Given the description of an element on the screen output the (x, y) to click on. 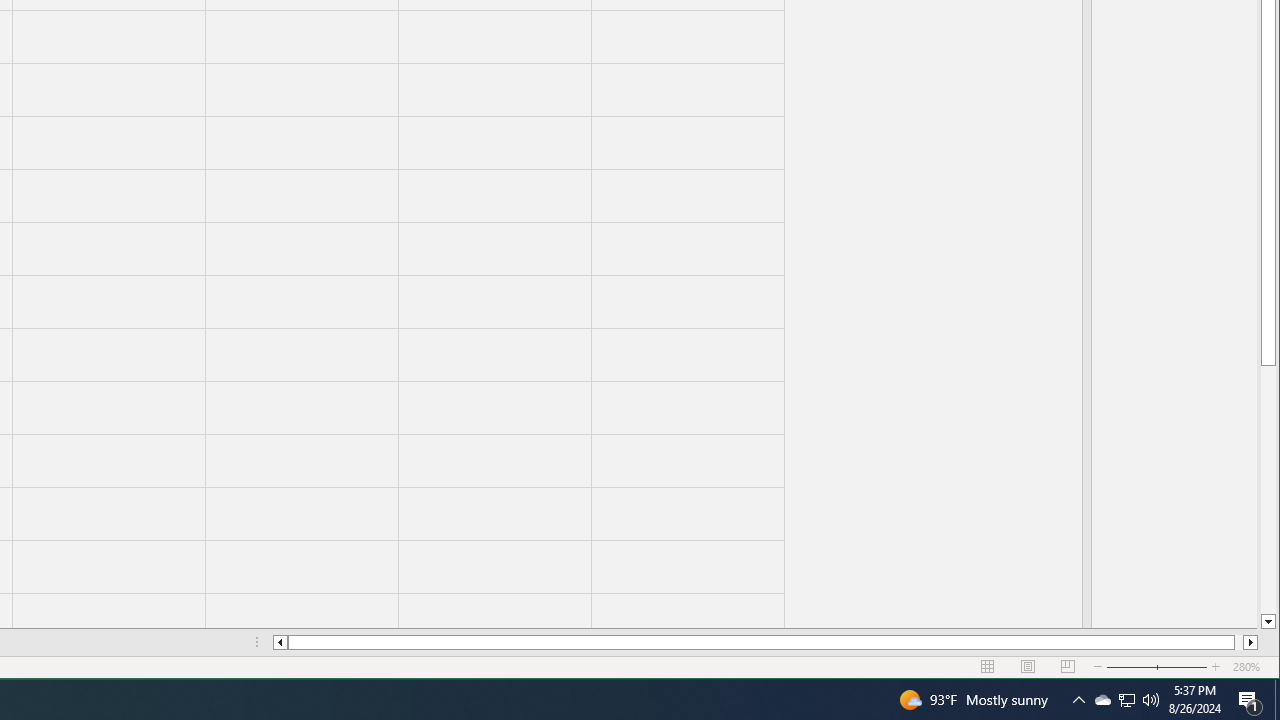
User Promoted Notification Area (1126, 699)
Notification Chevron (1102, 699)
Q2790: 100% (1078, 699)
Show desktop (1151, 699)
